Given the description of an element on the screen output the (x, y) to click on. 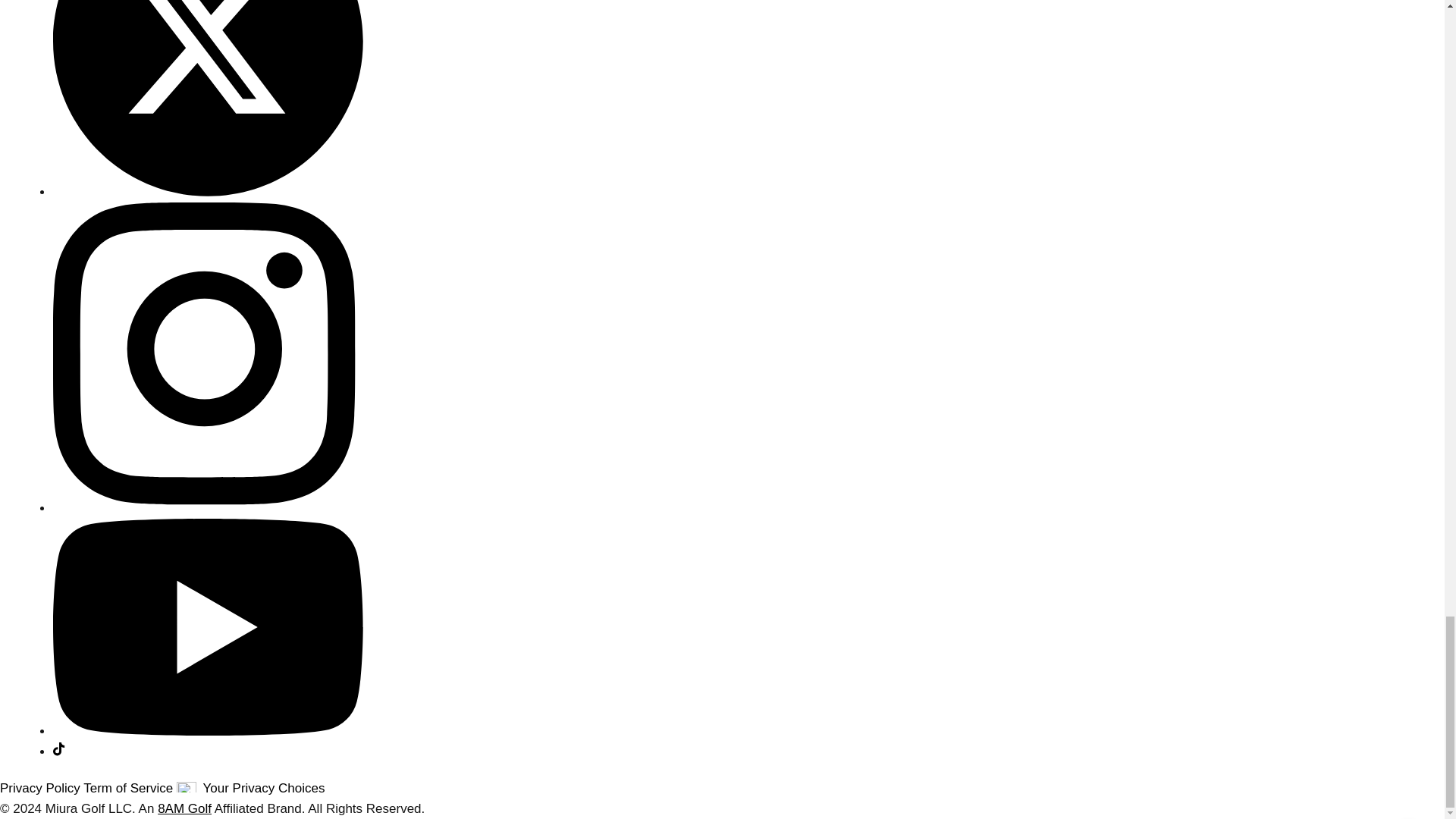
Instagram (207, 508)
YouTube (207, 730)
TikTok (58, 751)
Twitter (207, 192)
